Given the description of an element on the screen output the (x, y) to click on. 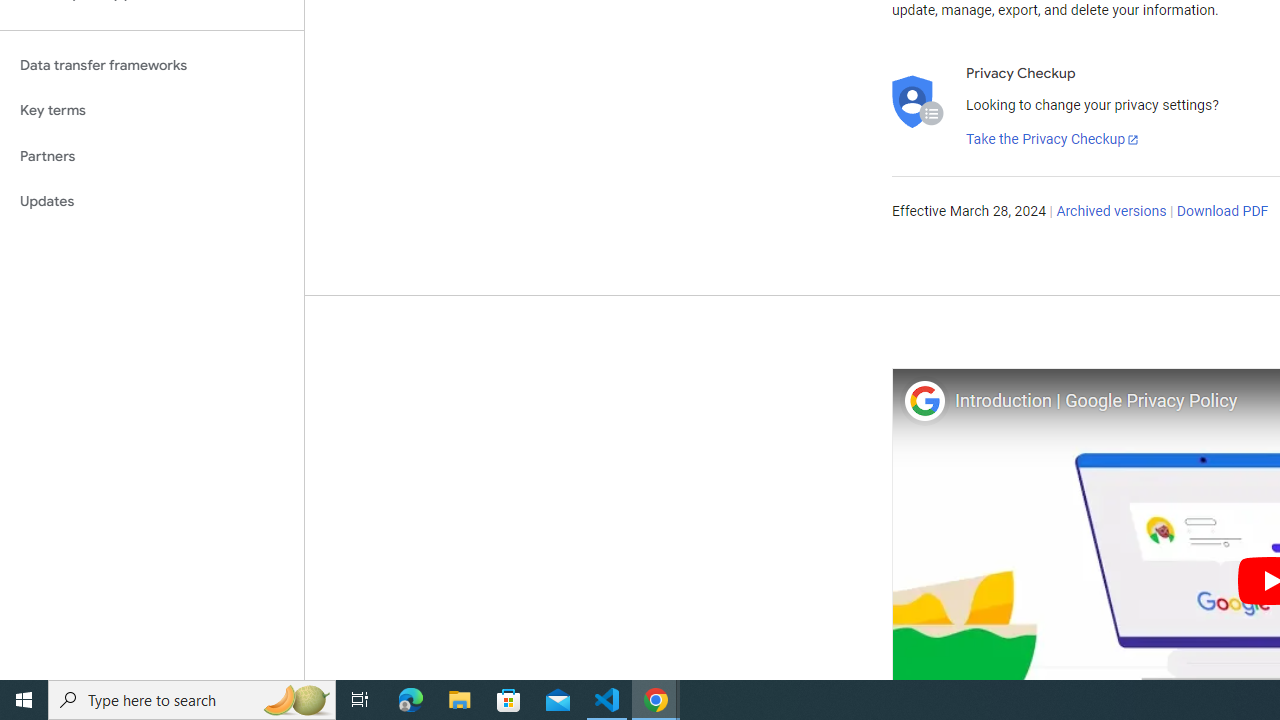
Key terms (152, 110)
Download PDF (1222, 212)
Archived versions (1111, 212)
Photo image of Google (924, 400)
Data transfer frameworks (152, 65)
Updates (152, 201)
Take the Privacy Checkup (1053, 140)
Partners (152, 156)
